Given the description of an element on the screen output the (x, y) to click on. 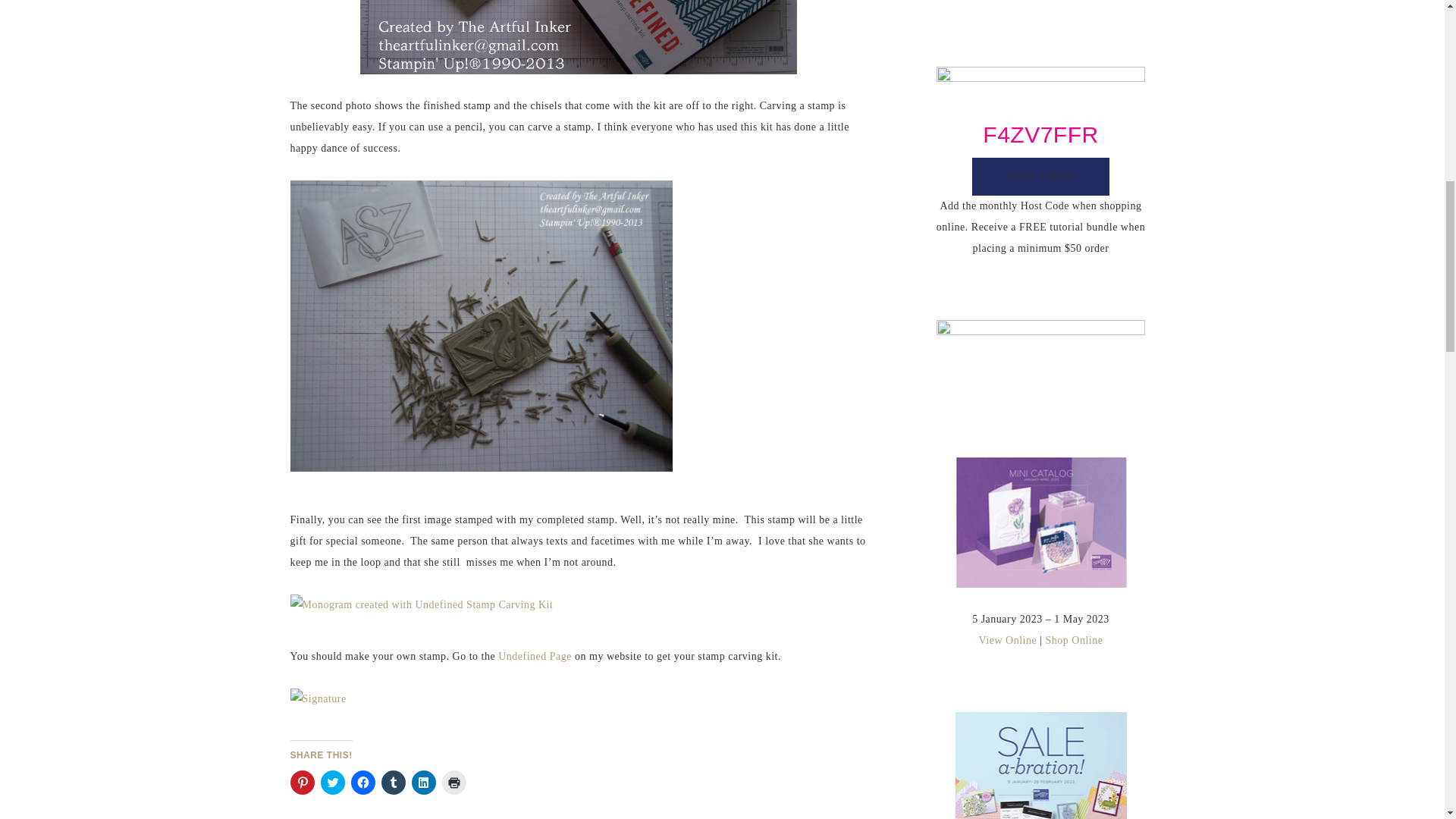
Click to share on Facebook (362, 782)
Click to share on Tumblr (392, 782)
Undefined Page (534, 655)
Click to print (453, 782)
Click to share on Pinterest (301, 782)
Click to share on LinkedIn (422, 782)
Click to share on Twitter (331, 782)
